Given the description of an element on the screen output the (x, y) to click on. 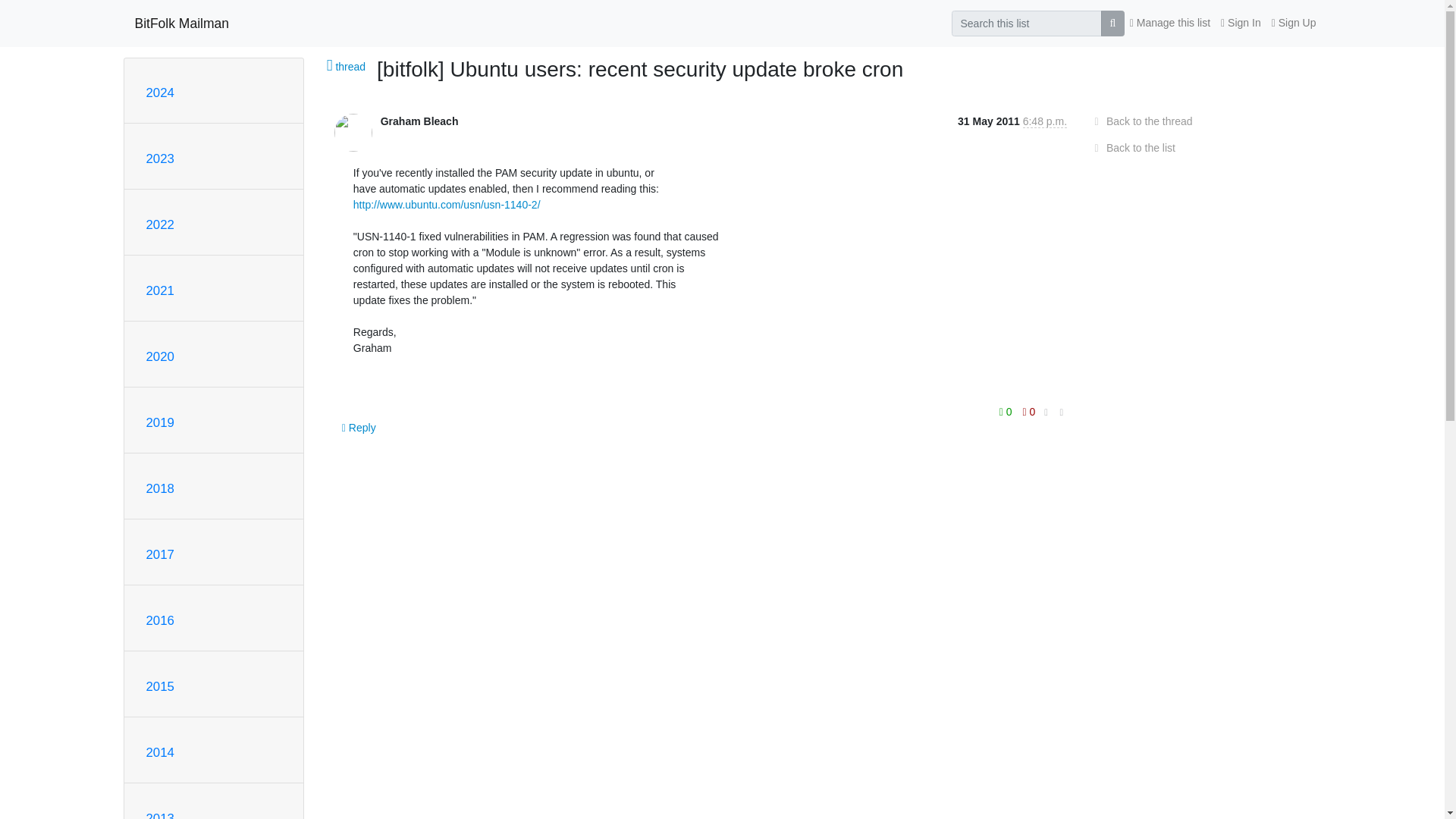
Manage this list (1169, 22)
Sender's time: May 31, 2011, 7:48 p.m. (1045, 121)
Sign In (1240, 22)
You must be logged-in to vote. (1029, 411)
2024 (159, 92)
2022 (159, 224)
BitFolk Mailman (181, 22)
2023 (159, 158)
Sign Up (1294, 22)
You must be logged-in to vote. (1007, 411)
